Given the description of an element on the screen output the (x, y) to click on. 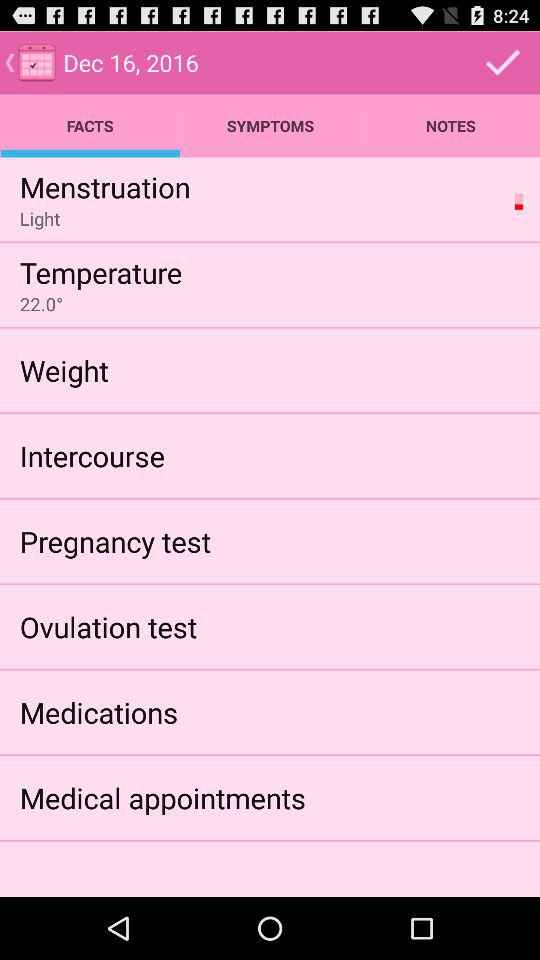
select the app below the temperature icon (41, 303)
